Given the description of an element on the screen output the (x, y) to click on. 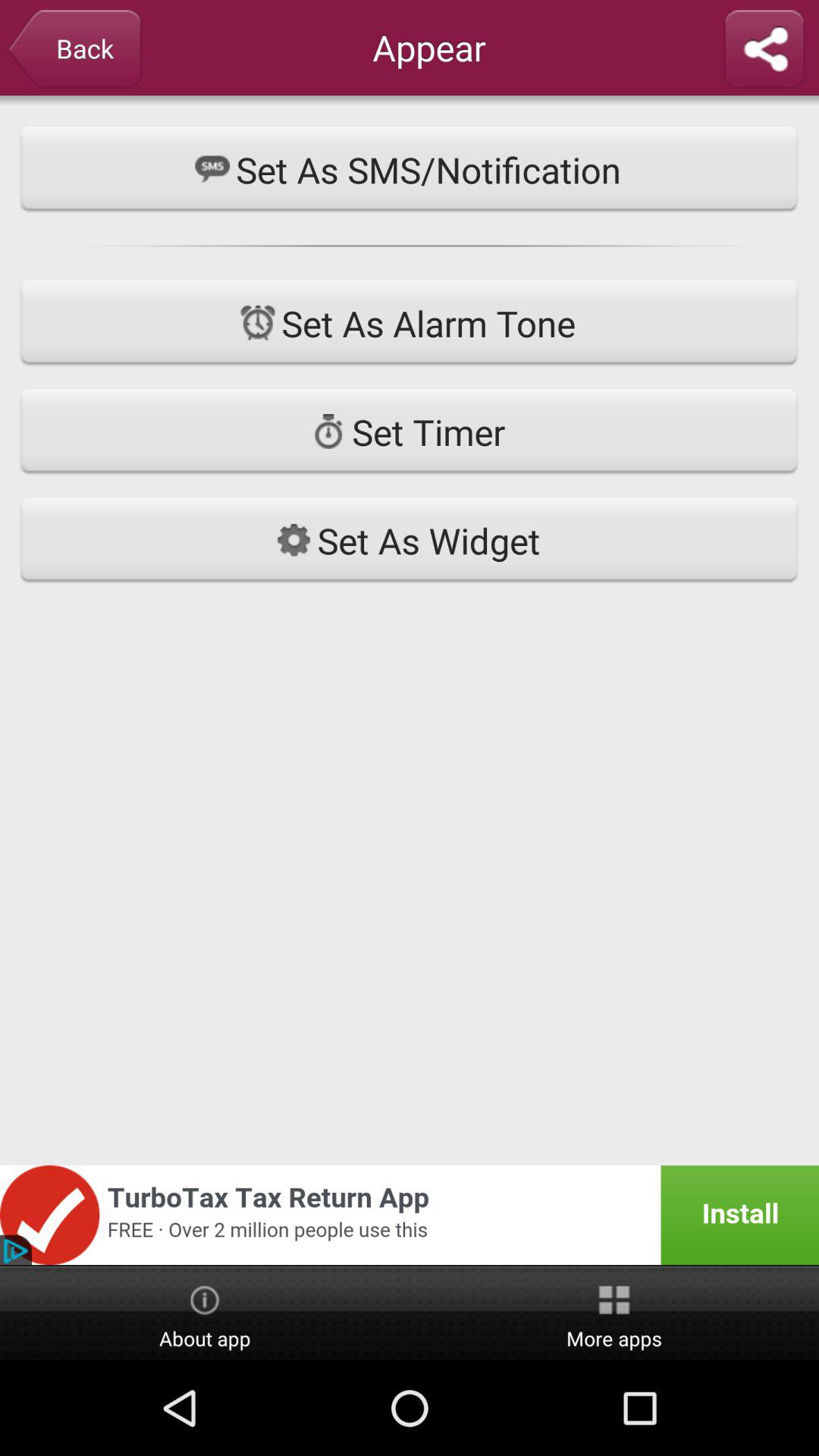
select option (764, 50)
